Given the description of an element on the screen output the (x, y) to click on. 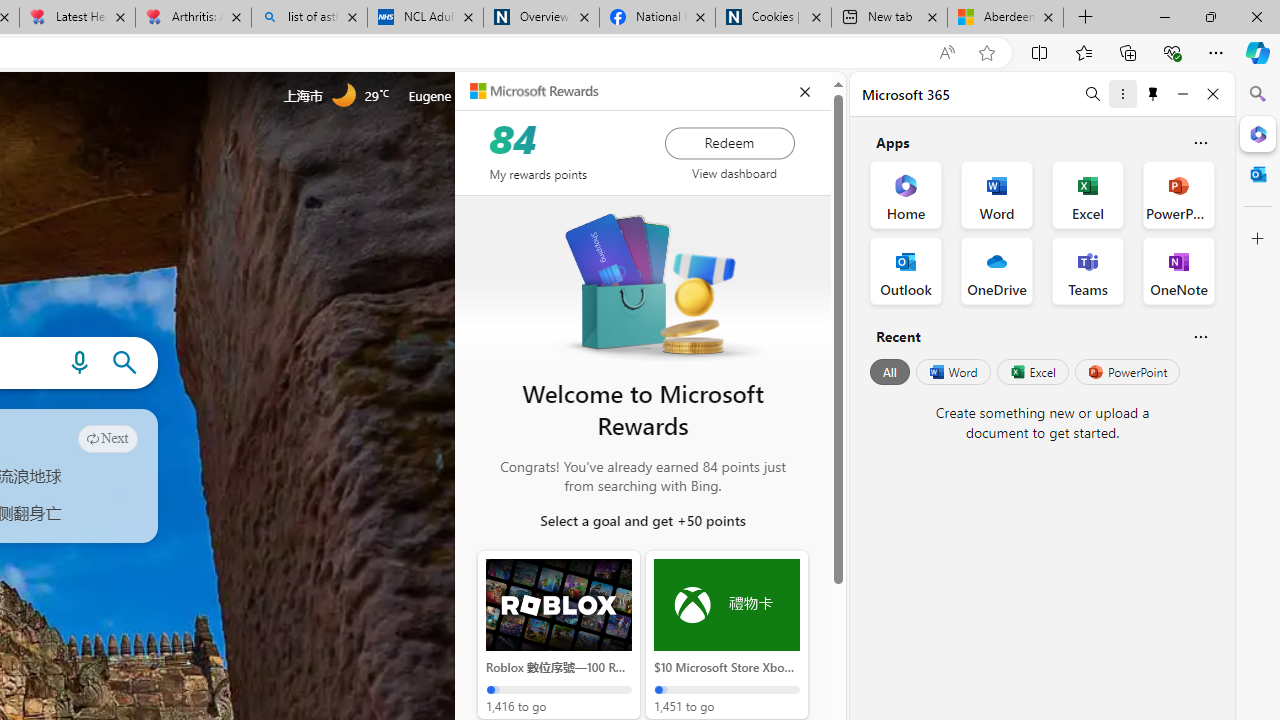
Settings and quick links (594, 95)
Home Office App (906, 194)
Teams Office App (1087, 270)
Eugene (457, 95)
closeEduPanel (804, 91)
OneNote Office App (1178, 270)
